Given the description of an element on the screen output the (x, y) to click on. 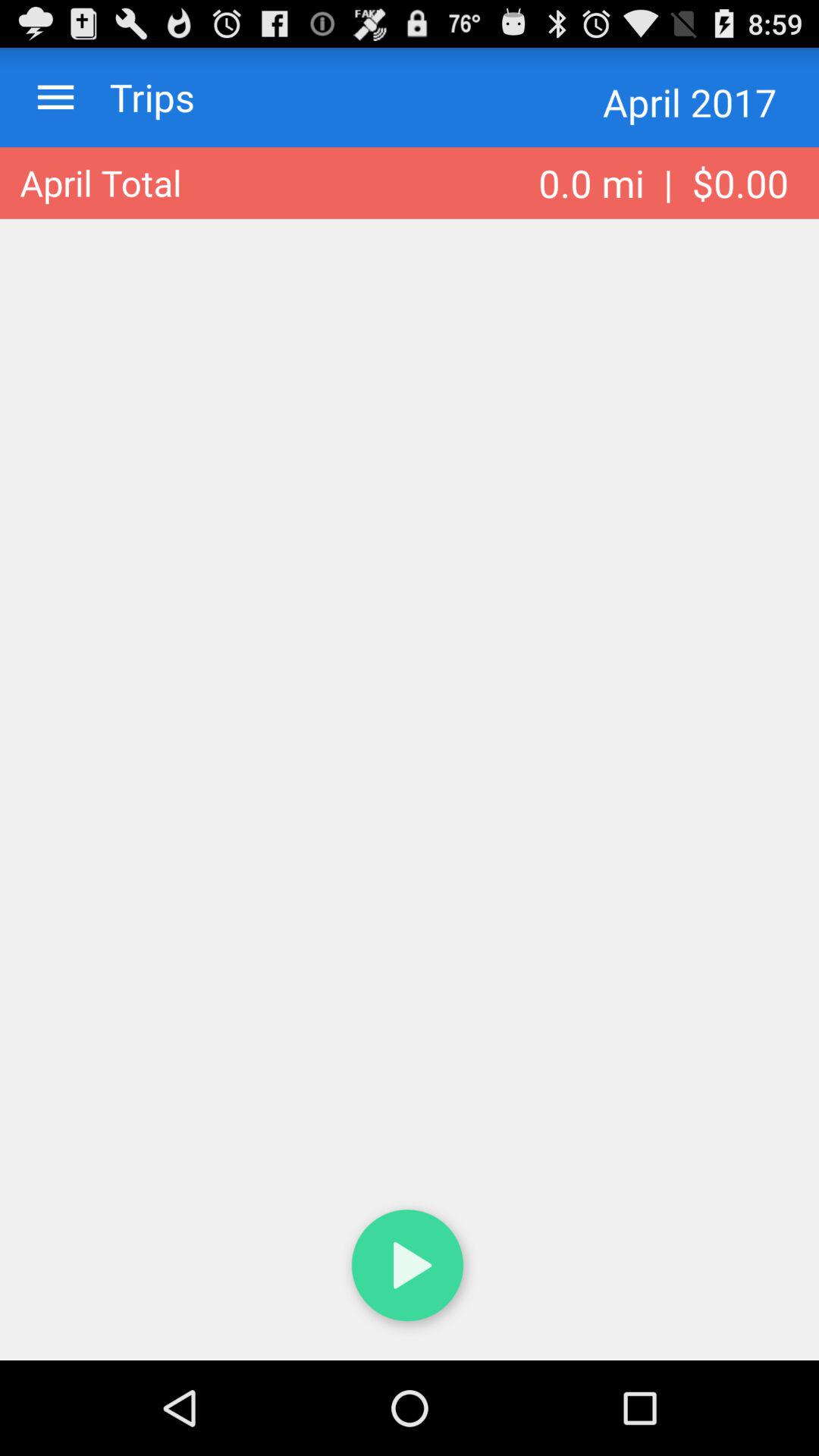
swipe until the april total (100, 182)
